Given the description of an element on the screen output the (x, y) to click on. 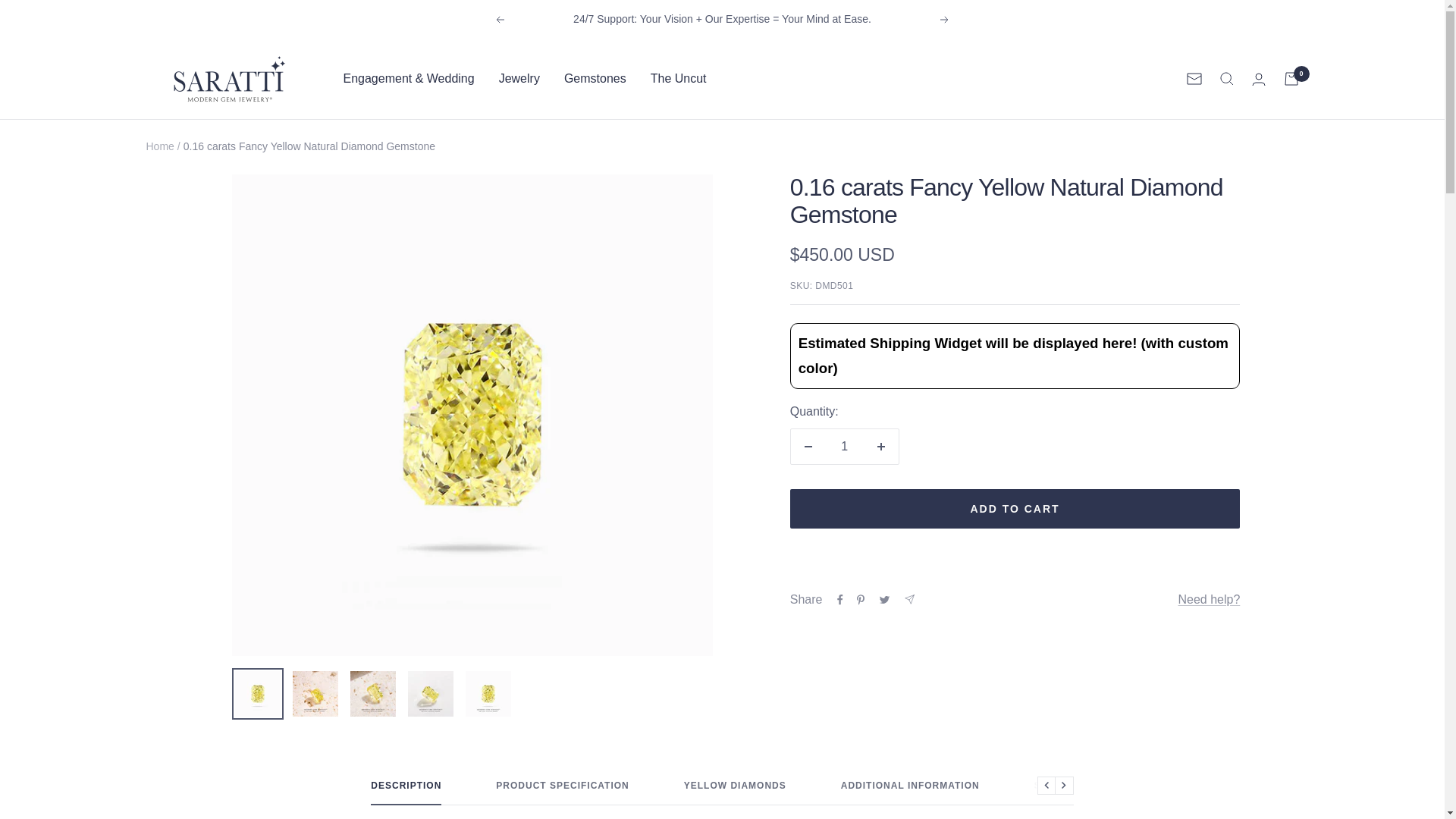
Gemstones (595, 78)
The Uncut (678, 78)
Increase quantity (880, 446)
0 (1290, 78)
ADD TO CART (1015, 508)
Jewelry (519, 78)
1 (844, 446)
Previous (499, 19)
Home (159, 146)
Newsletter (1193, 78)
Decrease quantity (807, 446)
SARATTI (229, 79)
Next (944, 19)
